Given the description of an element on the screen output the (x, y) to click on. 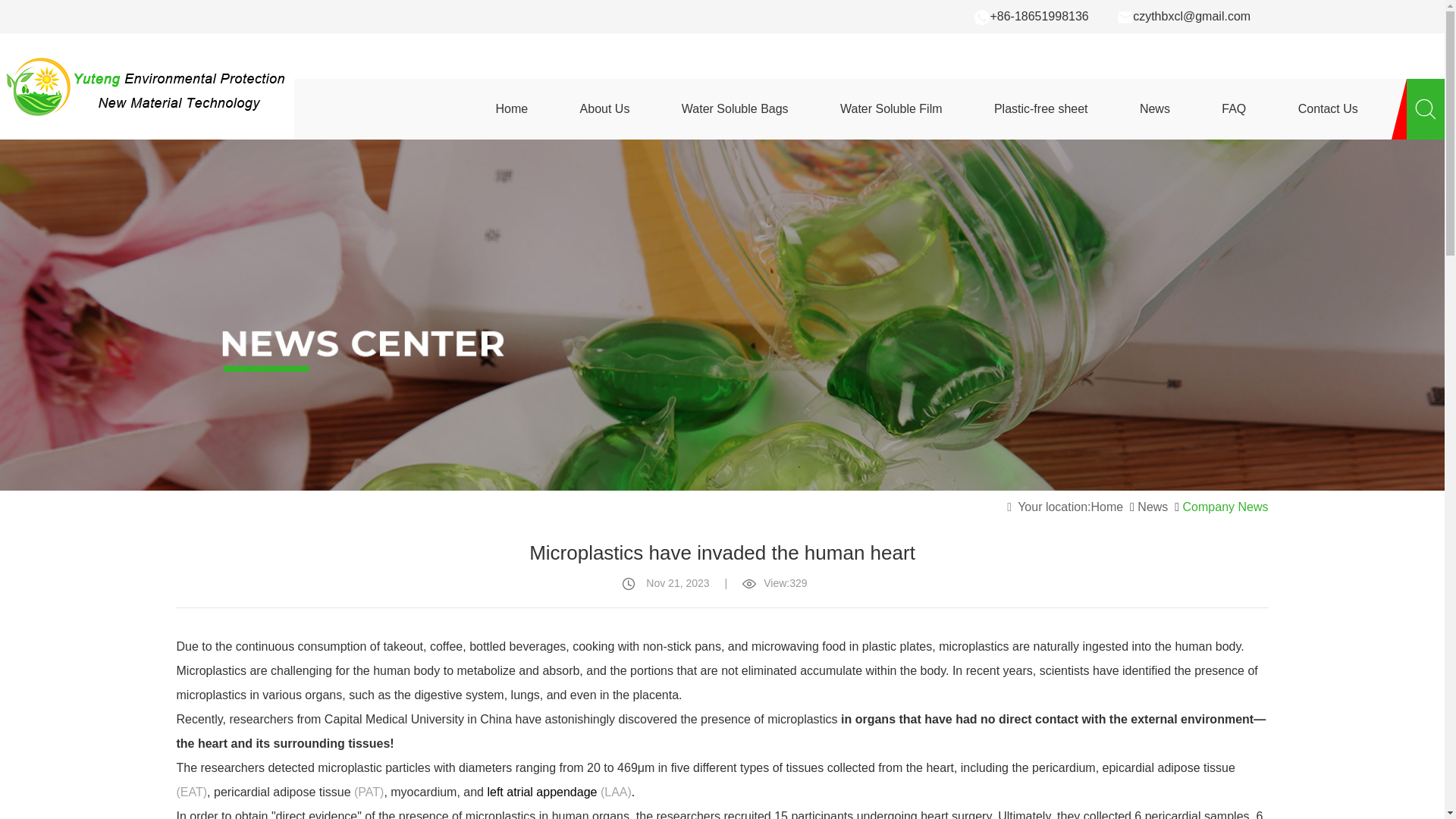
Water Soluble Film (891, 108)
Contact Us (1328, 108)
Your location:Home (1064, 506)
Plastic-free sheet (1040, 108)
News (1152, 506)
Water Soluble Bags (735, 108)
